Given the description of an element on the screen output the (x, y) to click on. 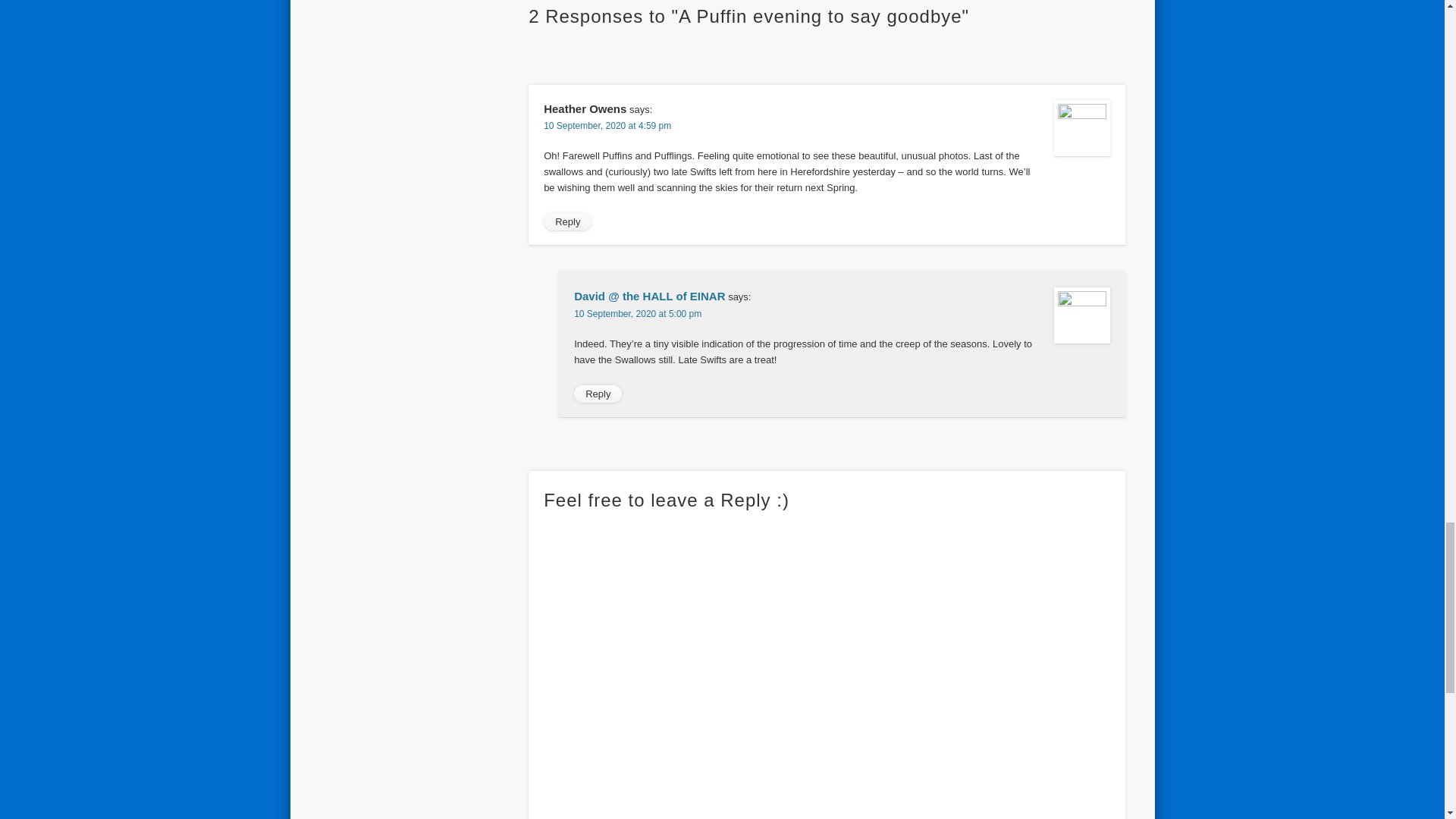
10 September, 2020 at 5:00 pm (637, 313)
10 September, 2020 at 4:59 pm (607, 125)
Reply (567, 221)
Reply (597, 393)
